Given the description of an element on the screen output the (x, y) to click on. 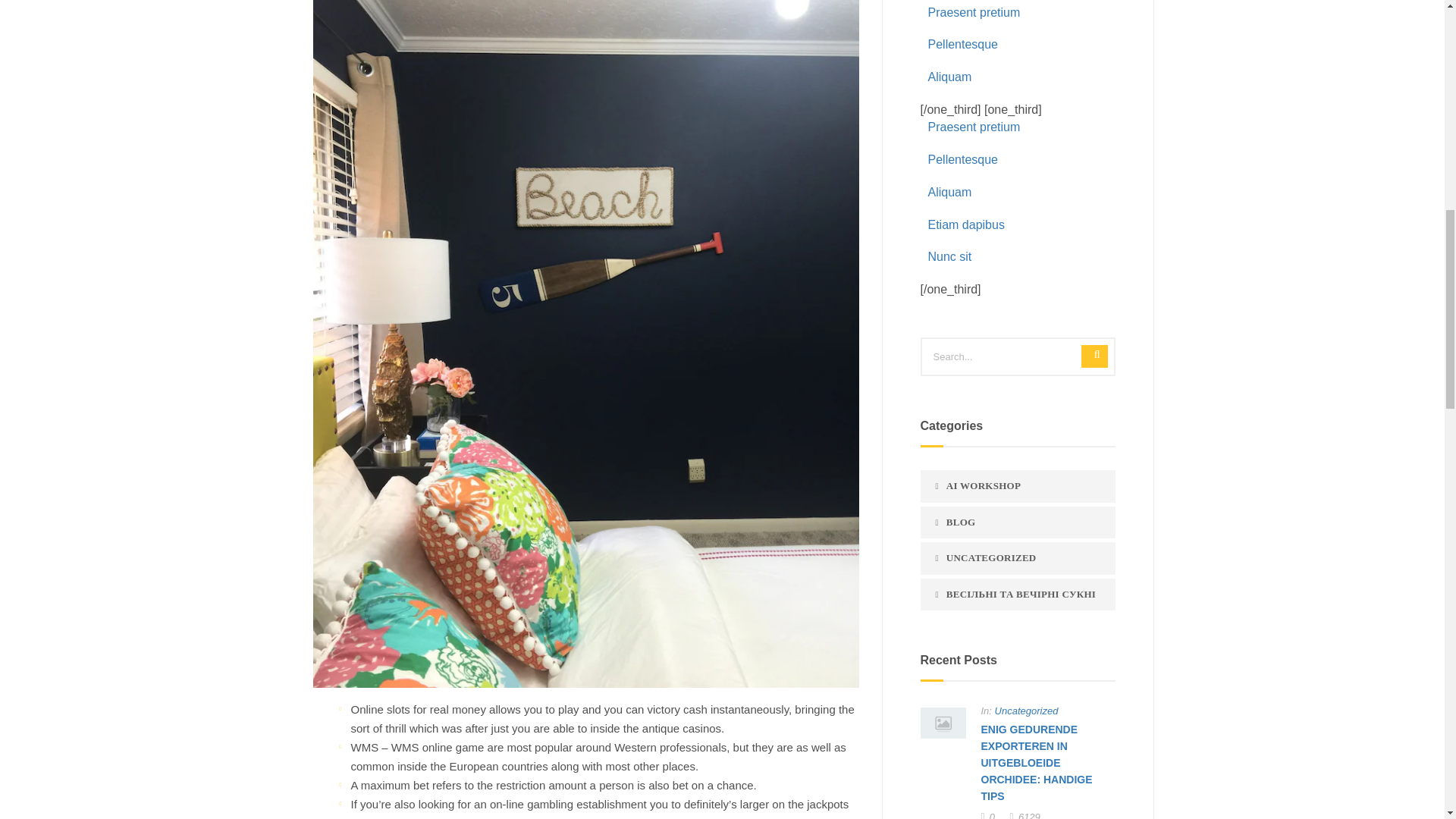
Search (1095, 356)
